Given the description of an element on the screen output the (x, y) to click on. 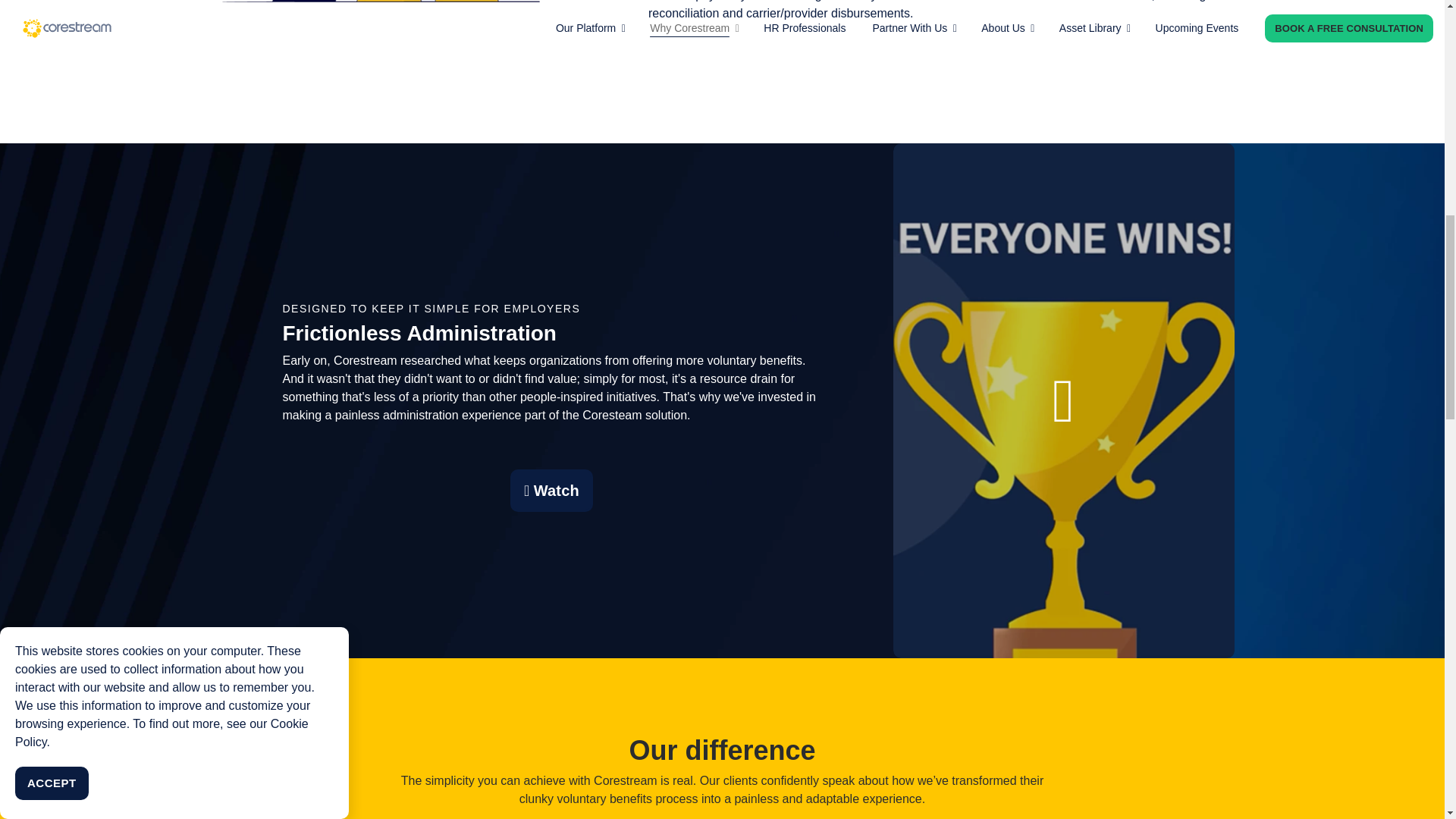
Watch (551, 490)
